Given the description of an element on the screen output the (x, y) to click on. 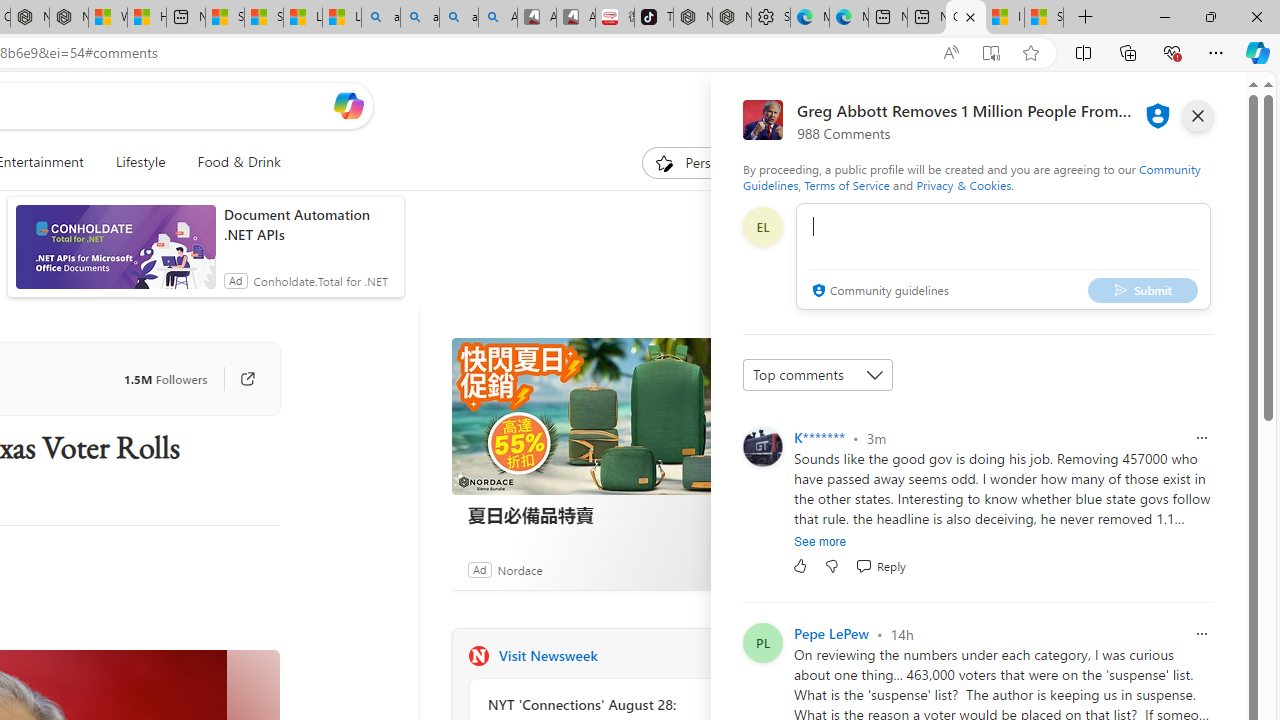
Document Automation .NET APIs (308, 224)
Food & Drink (239, 162)
Profile Picture (762, 642)
Greg Abbott Removes 1 Million People From Texas Voter Rolls (966, 17)
close (1197, 115)
anim-content (115, 255)
Sort comments by (817, 374)
Enter Immersive Reader (F9) (991, 53)
